Given the description of an element on the screen output the (x, y) to click on. 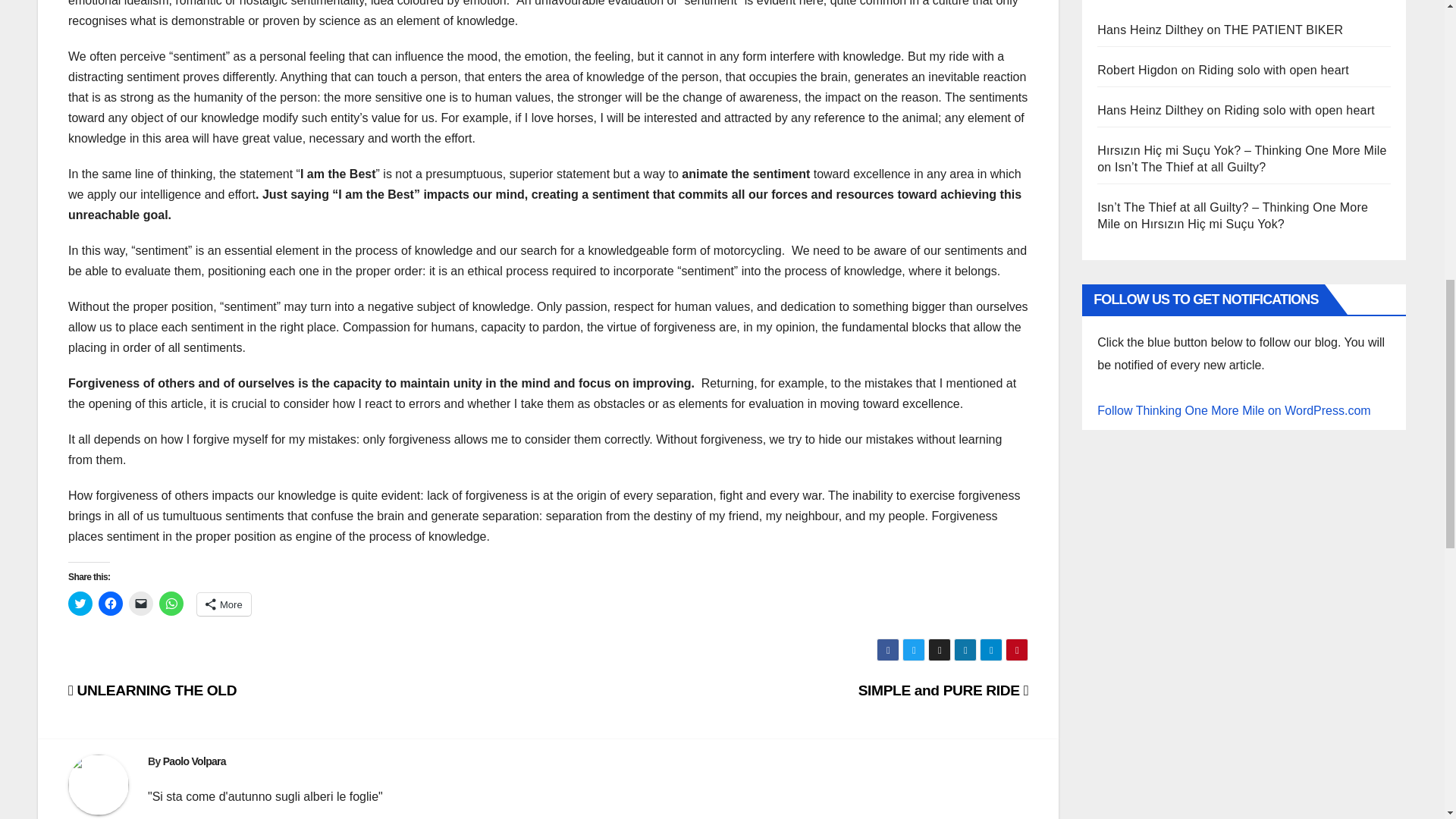
Click to share on WhatsApp (170, 603)
UNLEARNING THE OLD (151, 690)
Click to email a link to a friend (140, 603)
Click to share on Twitter (80, 603)
SIMPLE and PURE RIDE (944, 690)
Click to share on Facebook (110, 603)
Paolo Volpara (194, 761)
More (223, 603)
